Given the description of an element on the screen output the (x, y) to click on. 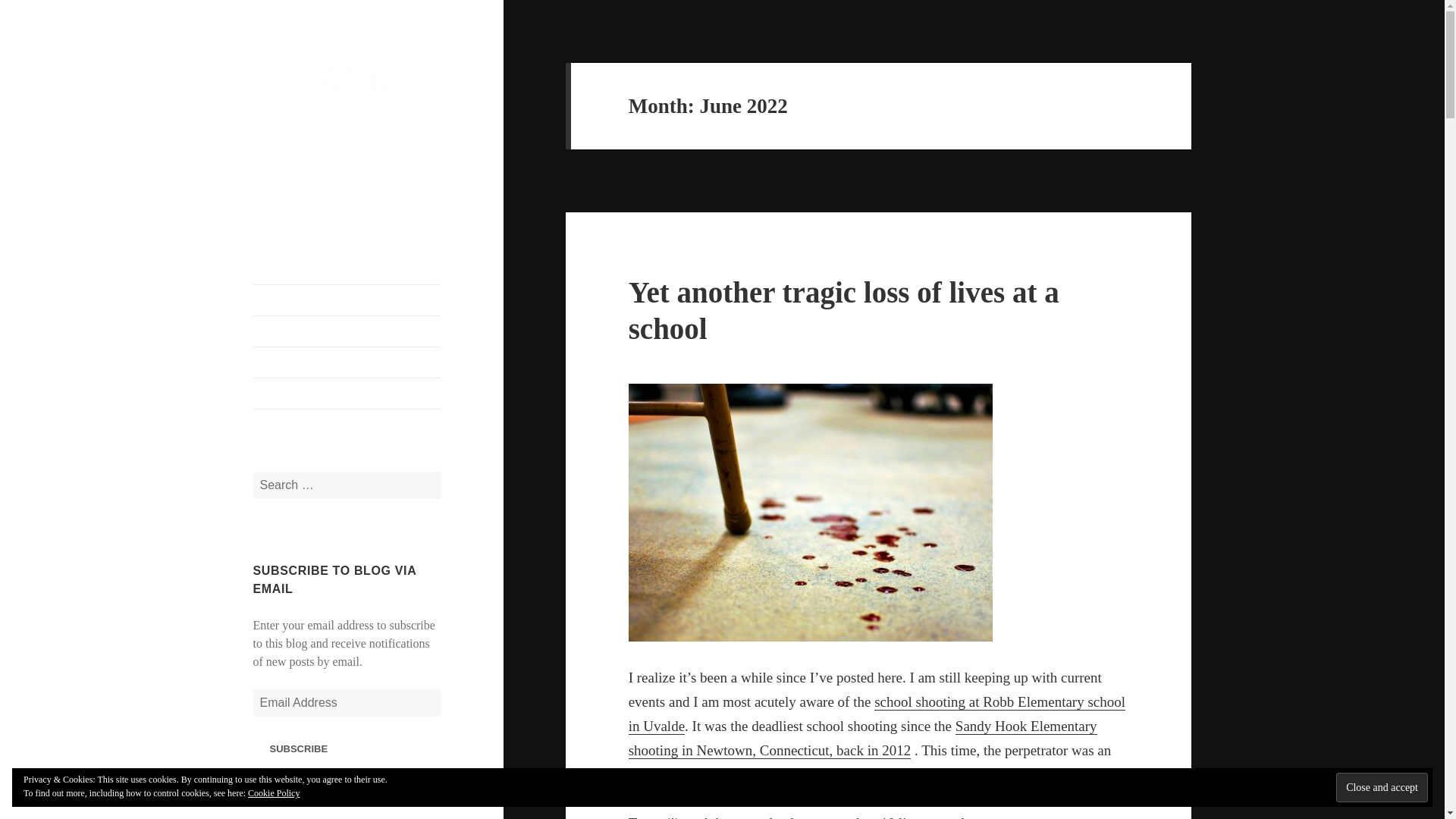
Rant Roulette (320, 148)
SUBSCRIBE (299, 748)
BitTorrent info (347, 393)
Conventions (347, 362)
Close and accept (1382, 787)
Contact (347, 331)
